Given the description of an element on the screen output the (x, y) to click on. 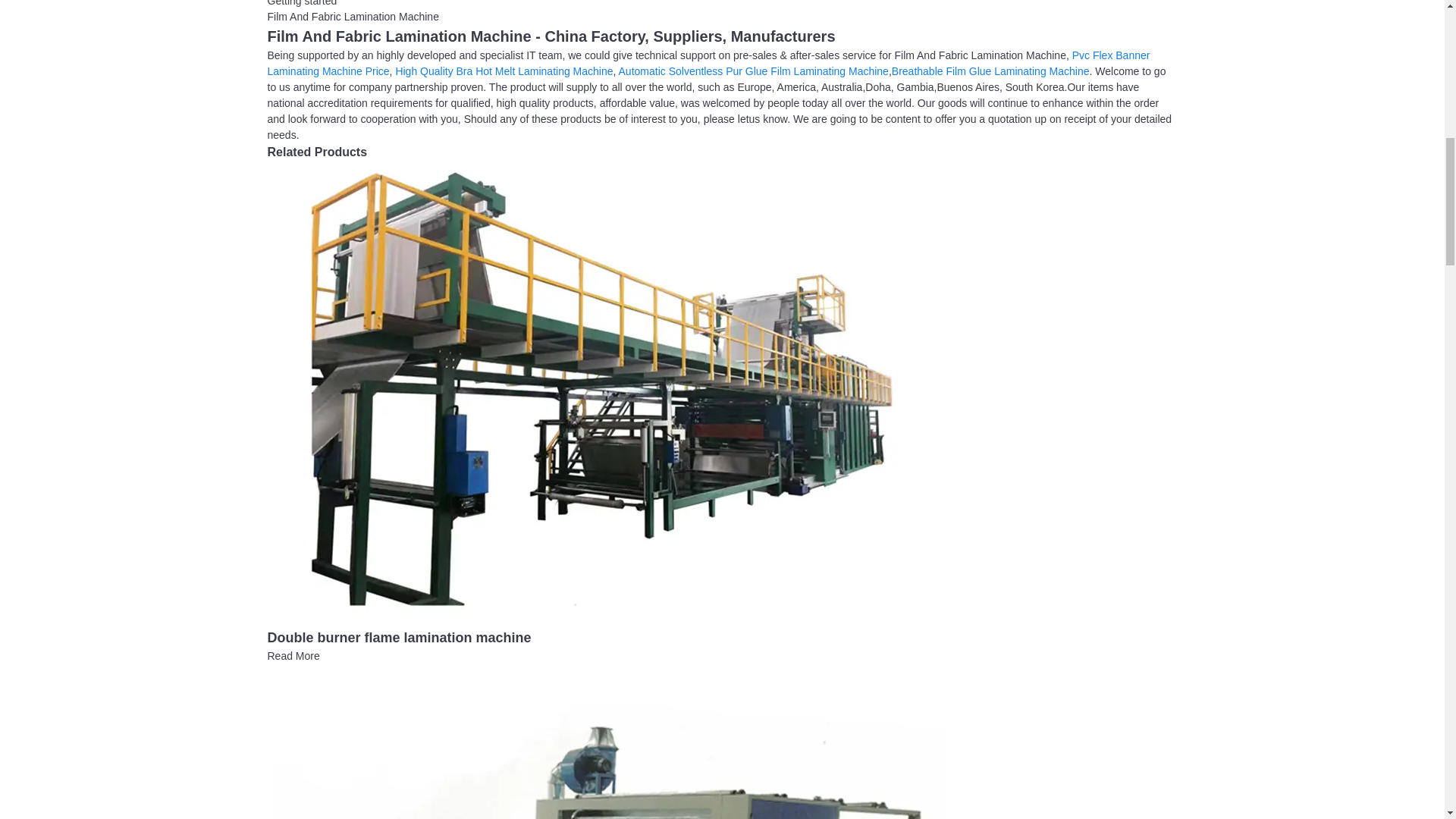
Breathable Film Glue Laminating Machine (990, 70)
Automatic Solventless Pur Glue Film Laminating Machine (753, 70)
Double burner flame lamination machine (398, 637)
Double burner flame lamination machine (398, 637)
Breathable Film Glue Laminating Machine (990, 70)
High Quality Bra Hot Melt Laminating Machine (503, 70)
Double burner flame lamination machine (607, 387)
Film And Fabric Lamination Machine (352, 16)
Automatic Solventless Pur Glue Film Laminating Machine (753, 70)
Getting started (301, 3)
High Quality Bra Hot Melt Laminating Machine (503, 70)
Pvc Flex Banner Laminating Machine Price (708, 62)
Pvc Flex Banner Laminating Machine Price (708, 62)
Read More (292, 655)
Double burner flame lamination machine (292, 655)
